Given the description of an element on the screen output the (x, y) to click on. 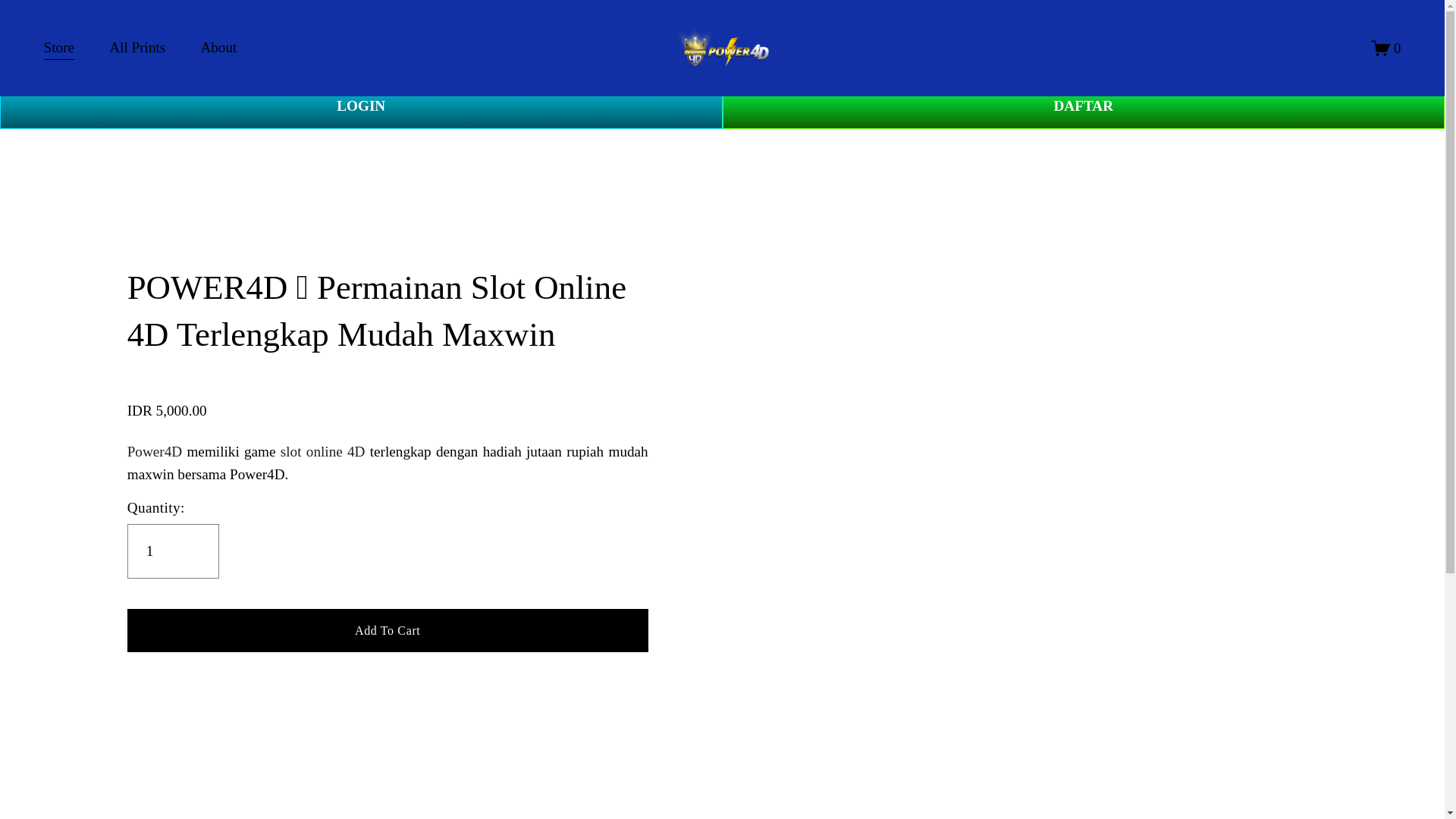
slot online 4D (323, 451)
1 (173, 551)
About (217, 48)
Add To Cart (387, 629)
Power4D (155, 451)
Store (59, 48)
LOGIN (361, 106)
0 (1385, 47)
All Prints (137, 48)
